Given the description of an element on the screen output the (x, y) to click on. 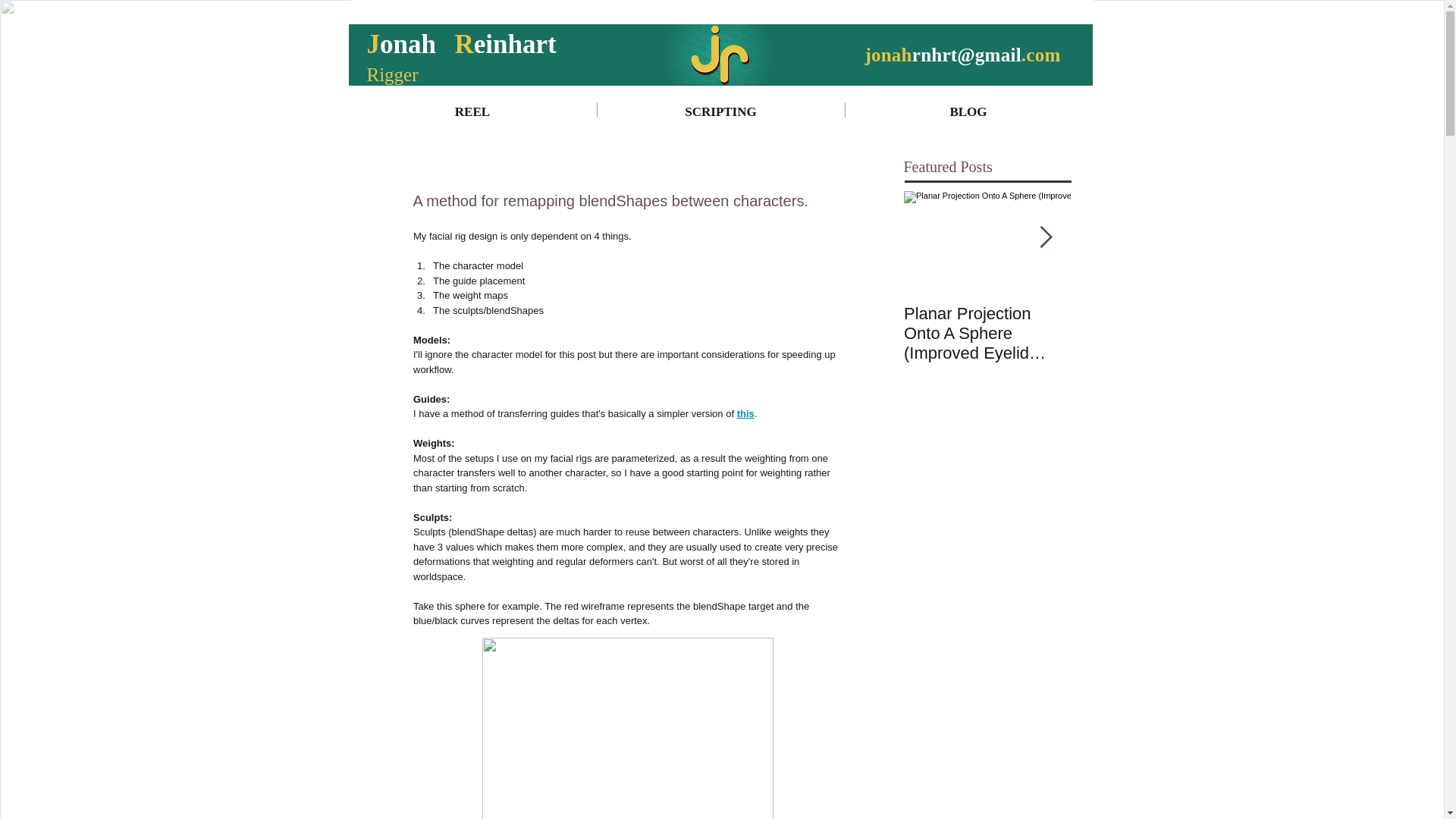
REEL (472, 110)
this (745, 413)
SCRIPTING (720, 110)
BLOG (967, 110)
Recreating Skin Clusters Using Matrix Math (1153, 333)
